Given the description of an element on the screen output the (x, y) to click on. 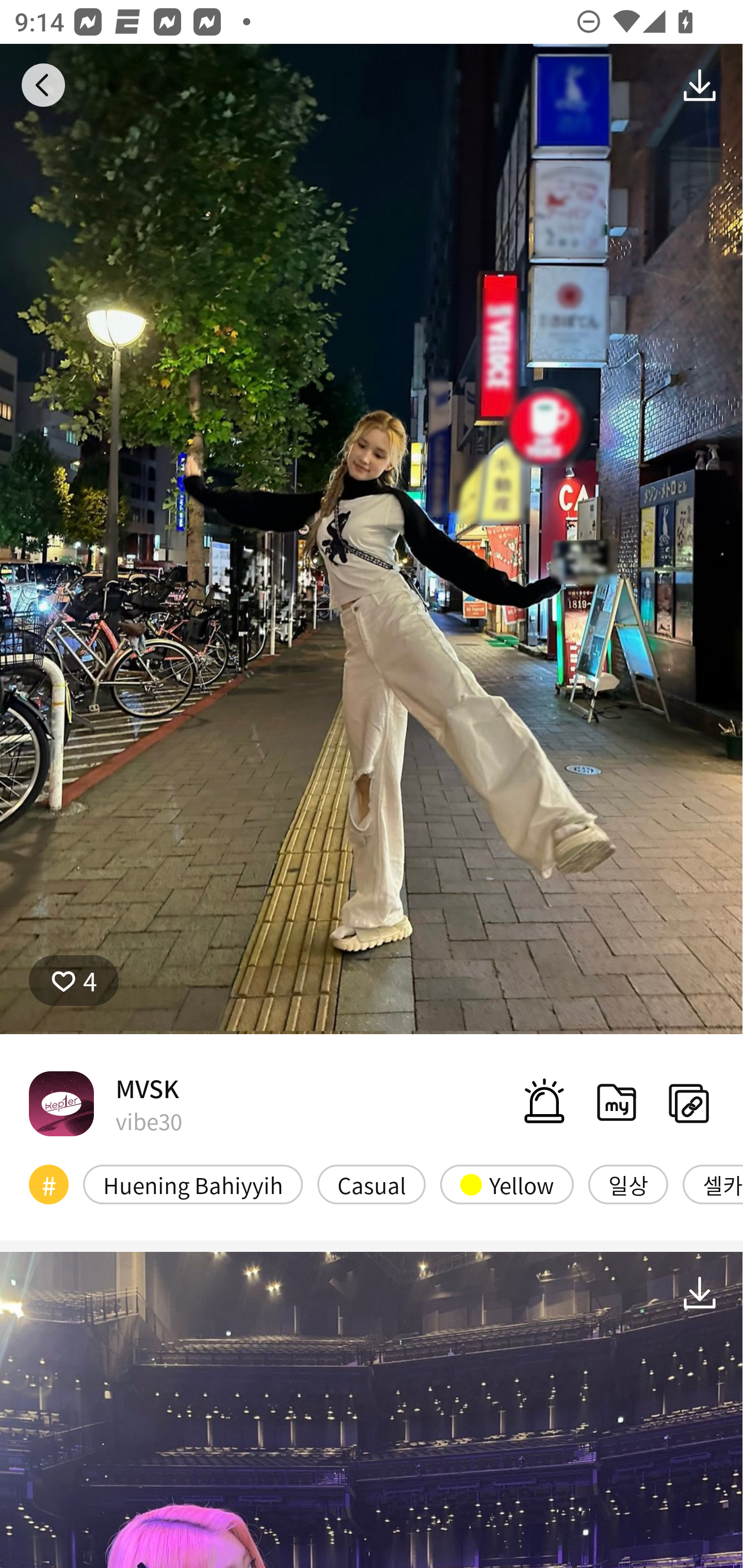
4 (73, 980)
MVSK vibe30 (105, 1102)
Huening Bahiyyih (193, 1184)
Casual (371, 1184)
Yellow (506, 1184)
일상 (627, 1184)
셀카 (712, 1184)
